Given the description of an element on the screen output the (x, y) to click on. 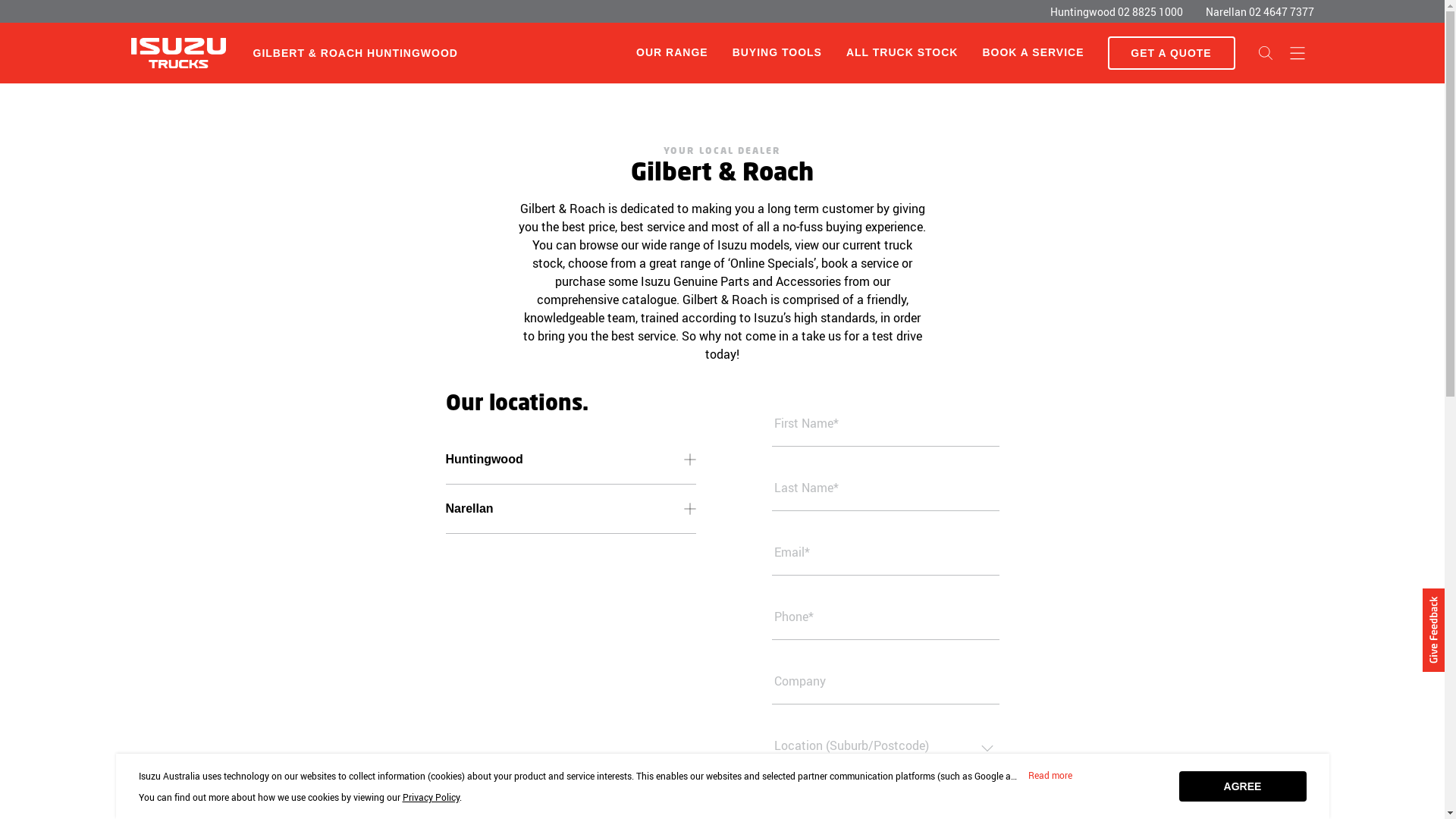
GET A QUOTE Element type: text (1170, 52)
OUR RANGE Element type: text (672, 52)
02 8825 1000 Element type: text (1150, 11)
Huntingwood Element type: text (570, 459)
BOOK A SERVICE Element type: text (1032, 52)
ALL TRUCK STOCK Element type: text (901, 52)
BUYING TOOLS Element type: text (777, 52)
Privacy Policy Element type: text (429, 796)
Narellan Element type: text (570, 508)
Read more Element type: text (1049, 775)
02 4647 7377 Element type: text (1280, 11)
AGREE Element type: text (1241, 786)
